Given the description of an element on the screen output the (x, y) to click on. 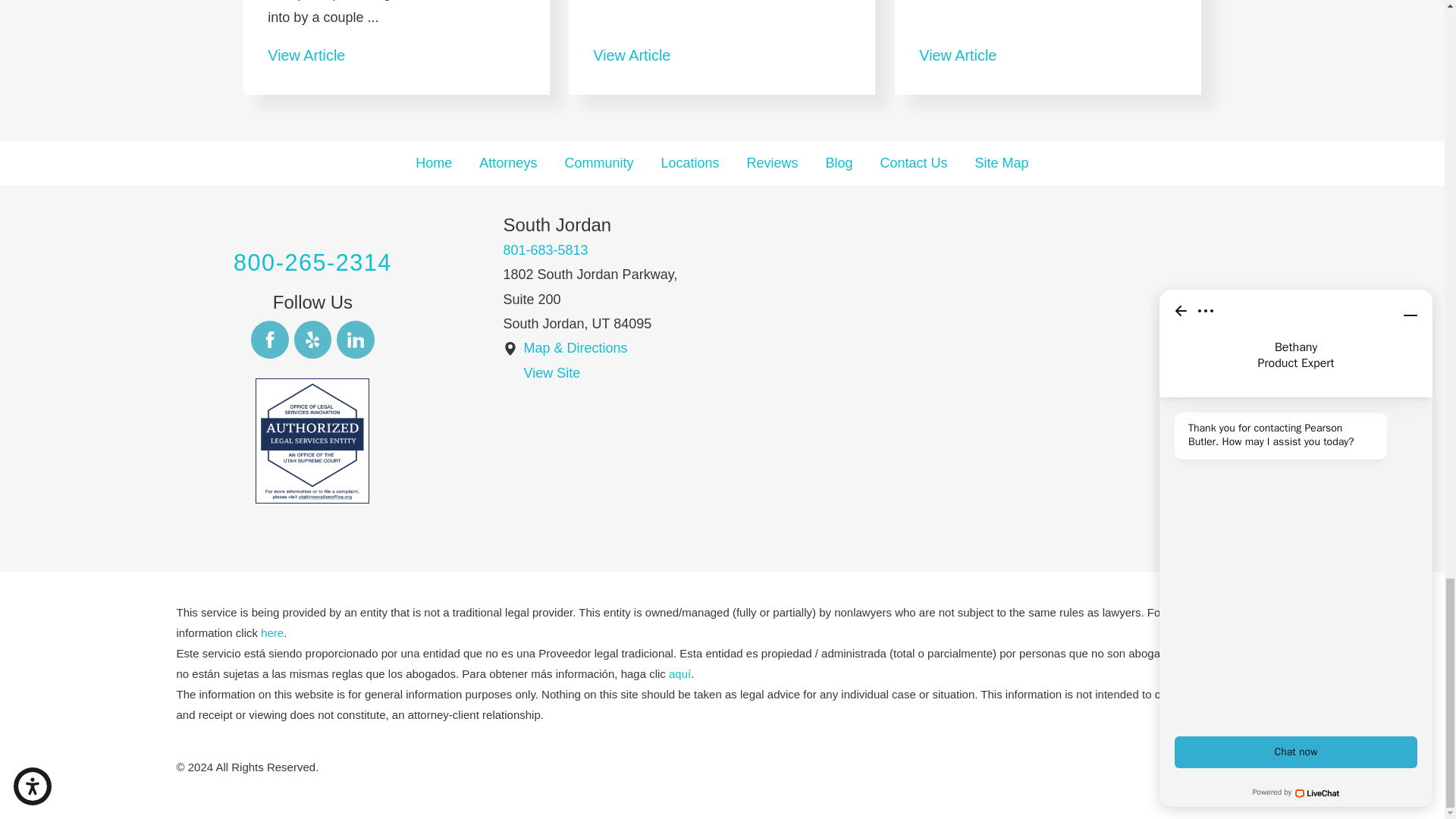
Facebook (269, 339)
Yelp (312, 339)
LinkedIn (355, 339)
Site Icon (509, 348)
